Given the description of an element on the screen output the (x, y) to click on. 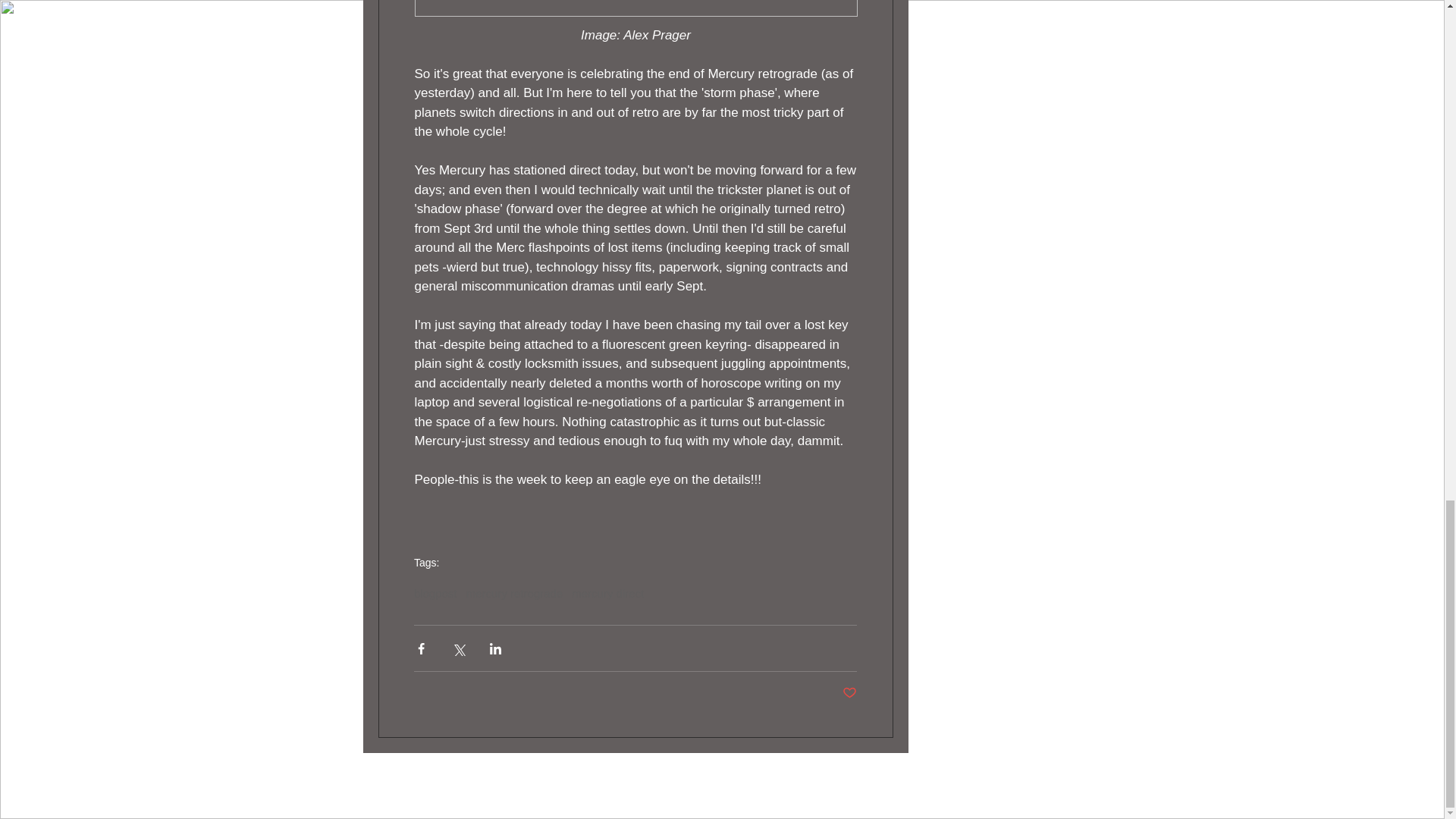
mercury direct (607, 593)
blogpost (435, 593)
Post not marked as liked (850, 693)
mercury retrograde (514, 593)
